Given the description of an element on the screen output the (x, y) to click on. 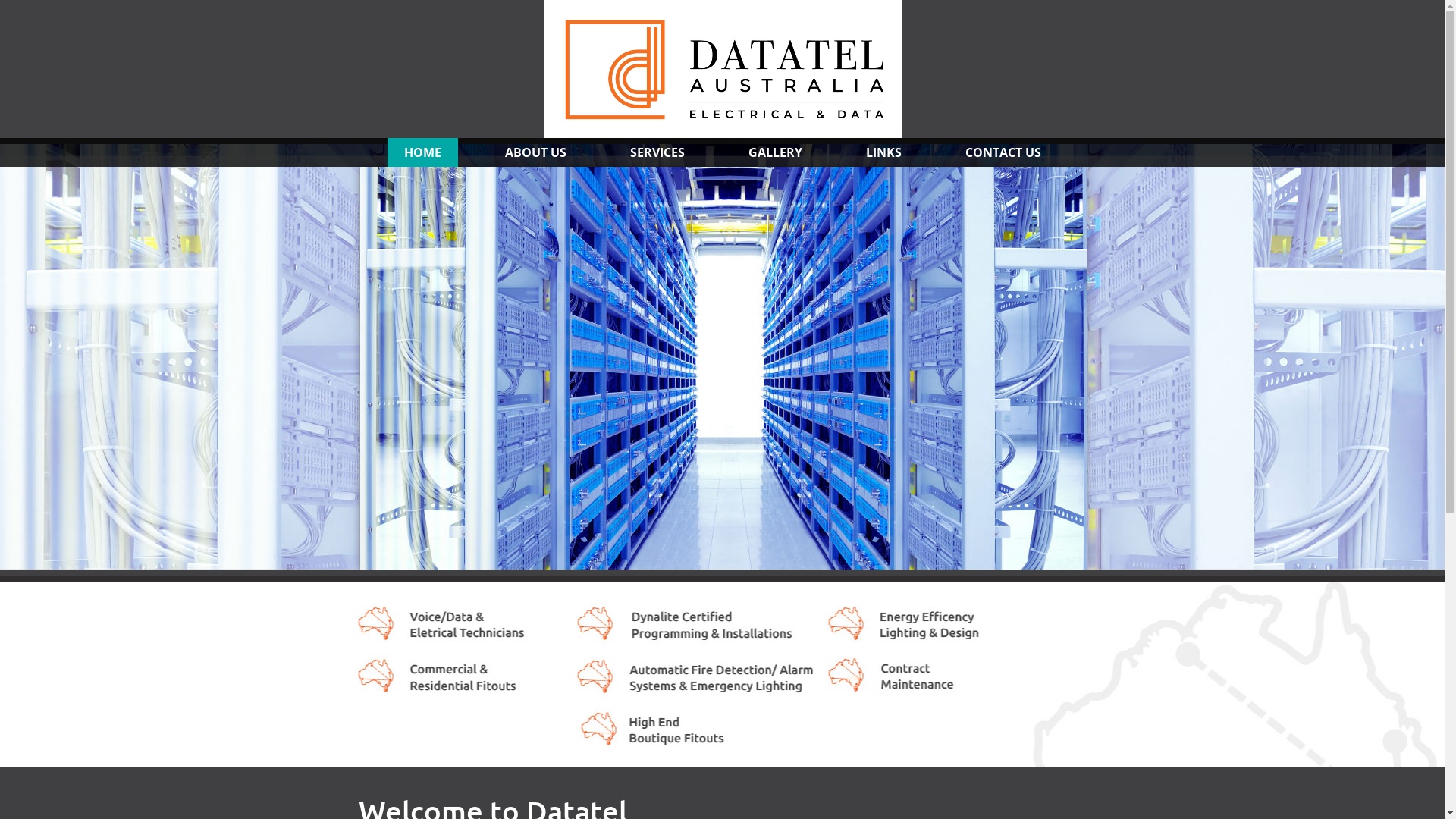
CONTACT US Element type: text (1002, 152)
LINKS Element type: text (883, 152)
GALLERY Element type: text (774, 152)
SERVICES Element type: text (656, 152)
HOME Element type: text (421, 152)
ABOUT US Element type: text (535, 152)
Datatel Australia Pty Ltd Element type: text (721, 69)
